Given the description of an element on the screen output the (x, y) to click on. 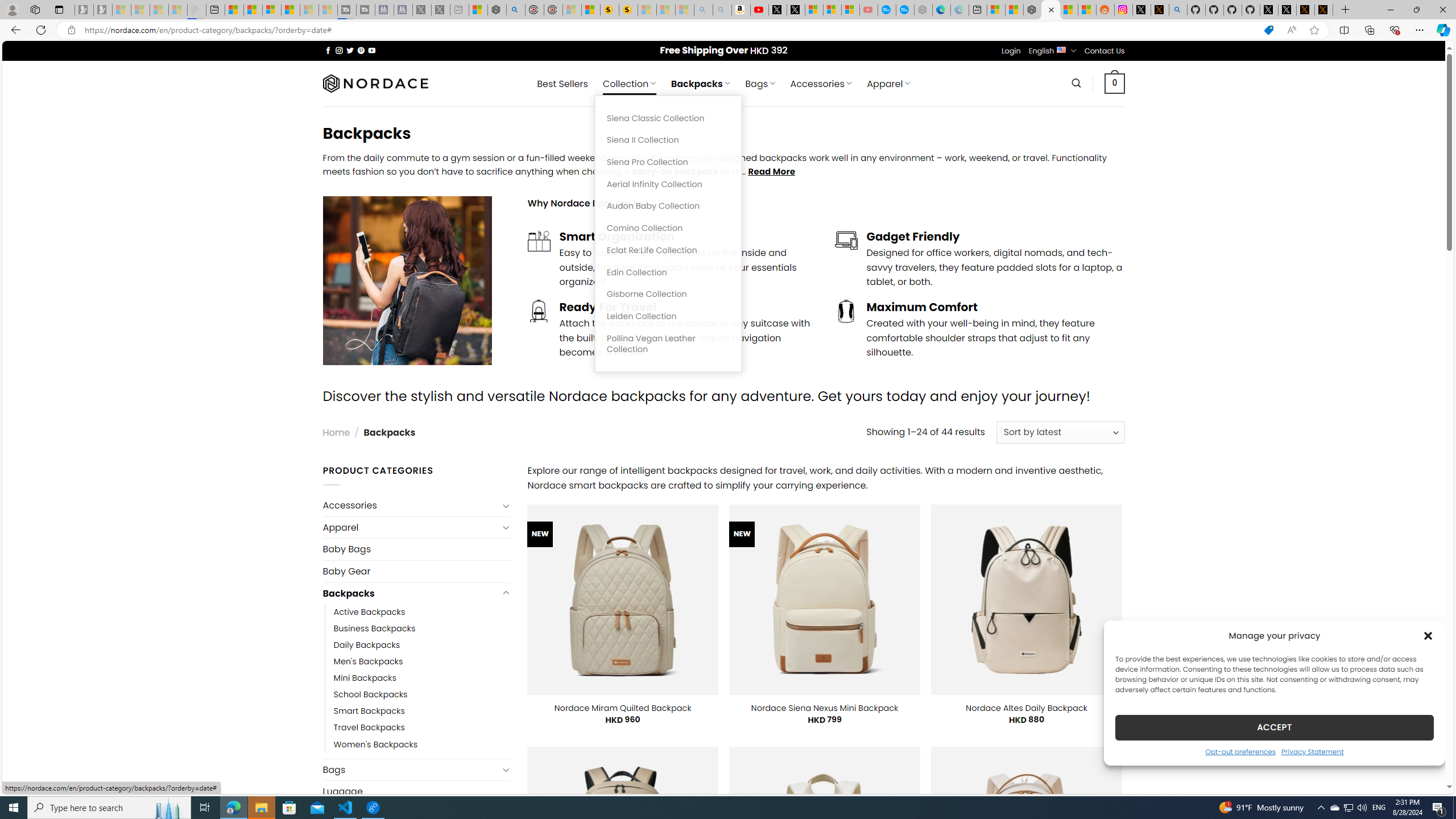
Login (1010, 50)
Follow on Pinterest (360, 49)
Daily Backpacks (422, 645)
Copilot (Ctrl+Shift+.) (1442, 29)
Personal Profile (12, 9)
Business Backpacks (422, 628)
Eclat Re:Life Collection (668, 250)
Comino Collection (668, 228)
Accessories (410, 505)
